Given the description of an element on the screen output the (x, y) to click on. 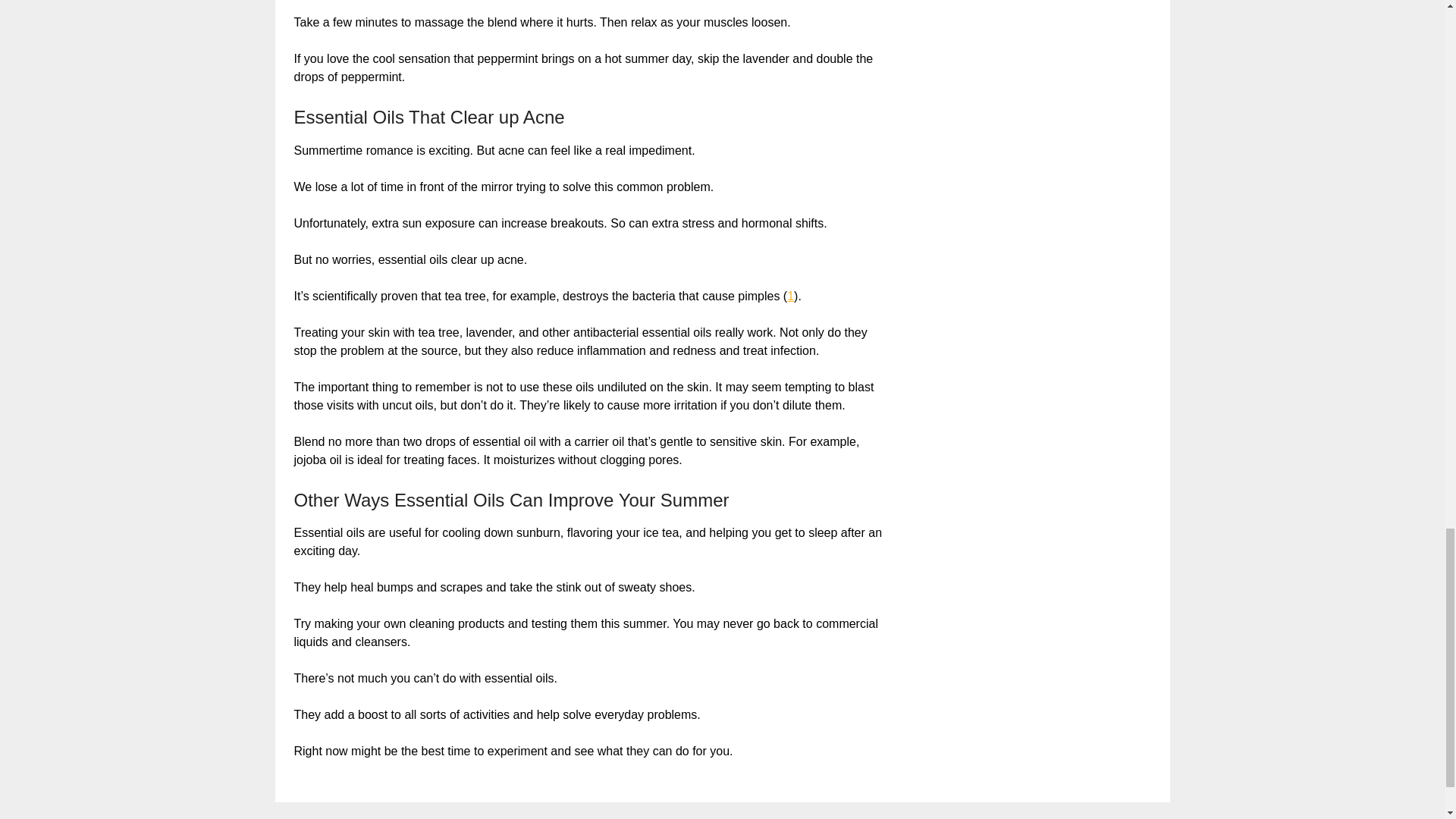
1 (790, 295)
